Given the description of an element on the screen output the (x, y) to click on. 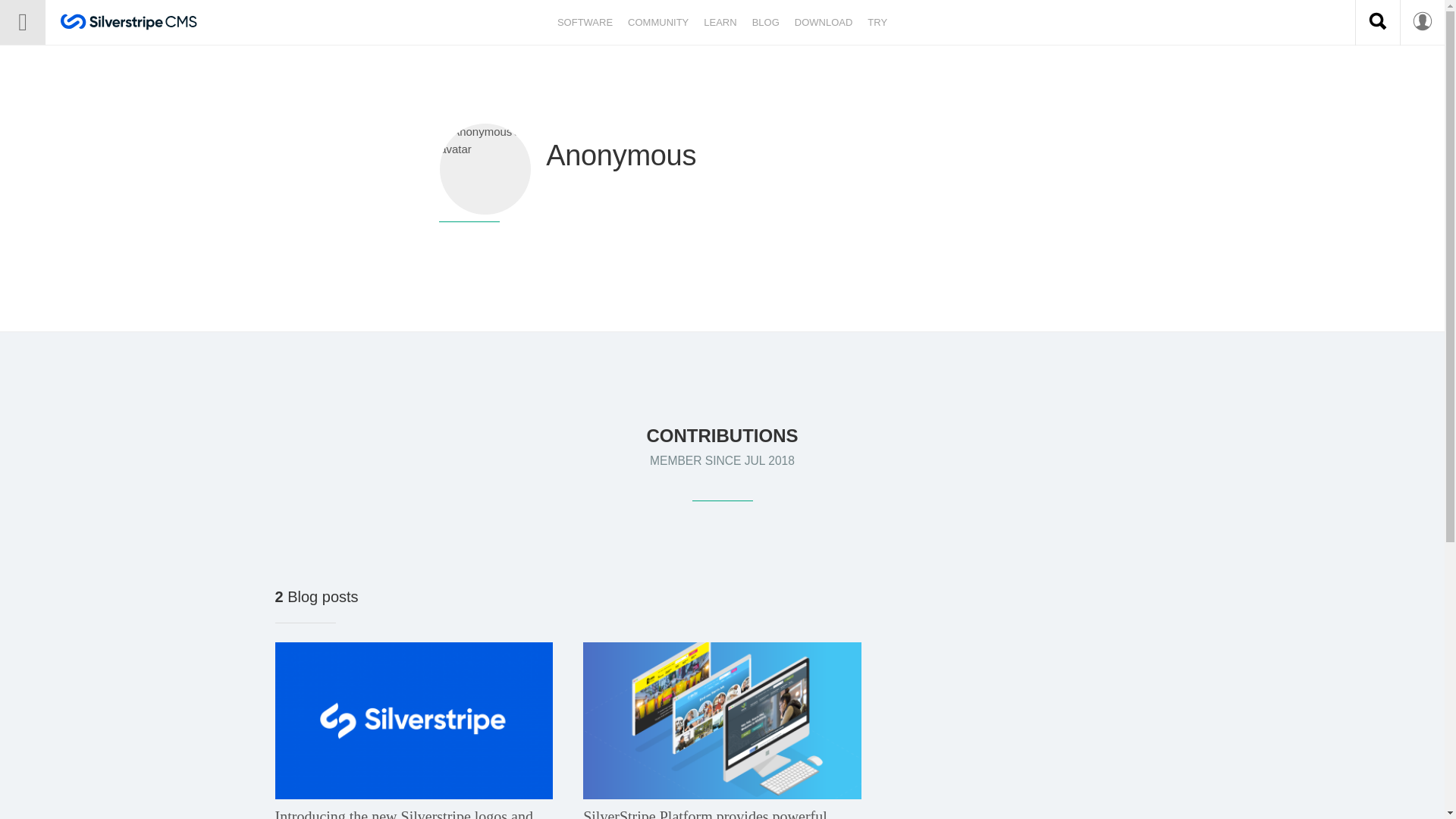
SOFTWARE (585, 22)
Go to the Community page (657, 22)
COMMUNITY (657, 22)
Search Site search (1377, 22)
Go to the Software page (585, 22)
Go to the Learn page (719, 22)
LEARN (719, 22)
BLOG (765, 22)
DOWNLOAD (823, 22)
Site Navigation (22, 22)
Silverstripe CMS (128, 24)
Search Site search (1378, 20)
